Given the description of an element on the screen output the (x, y) to click on. 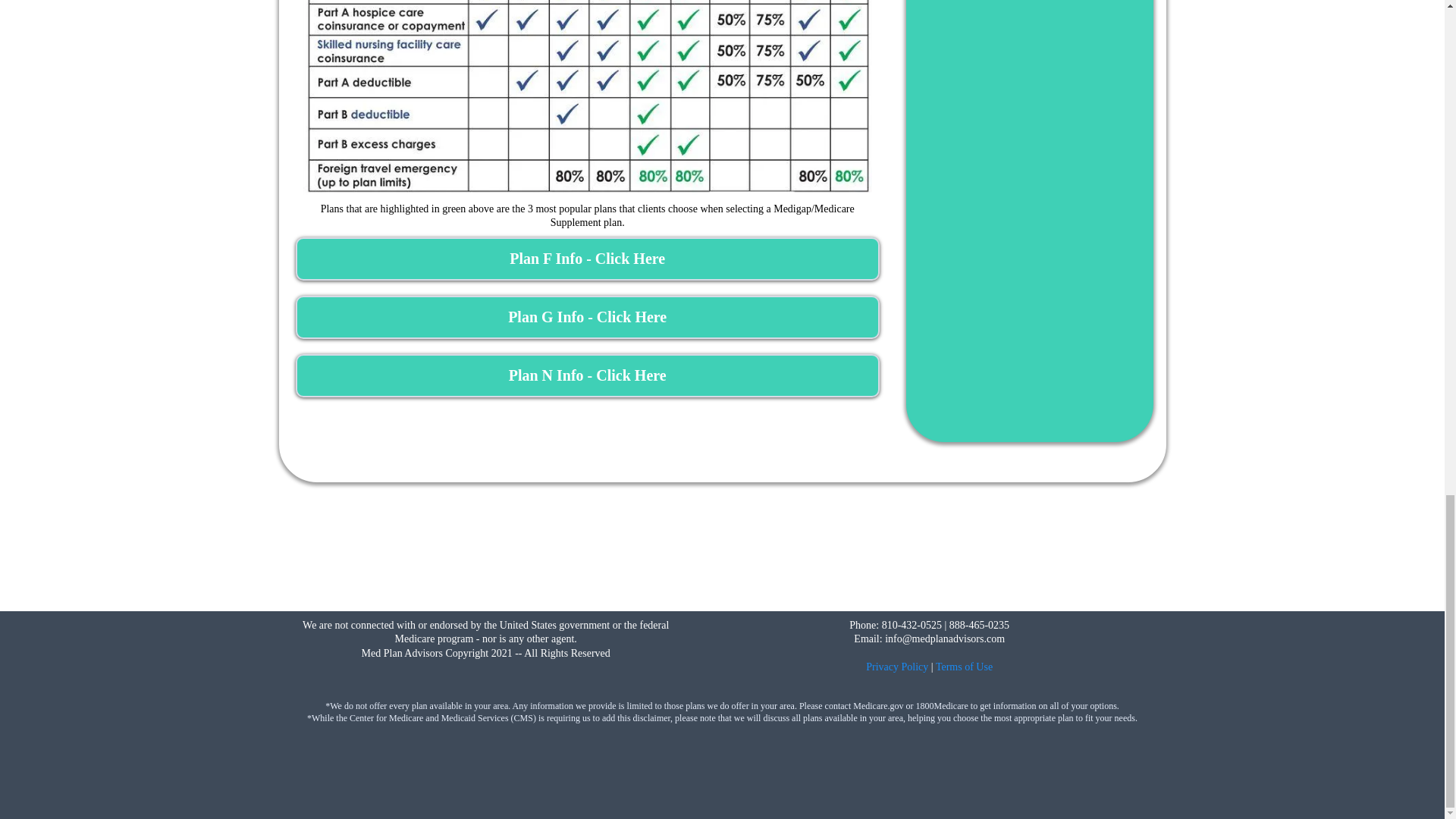
Plan F Info - Click Here (587, 258)
Privacy Policy (897, 666)
Plan G Info - Click Here (587, 317)
Plan N Info - Click Here (587, 375)
Terms of Use (964, 666)
